Given the description of an element on the screen output the (x, y) to click on. 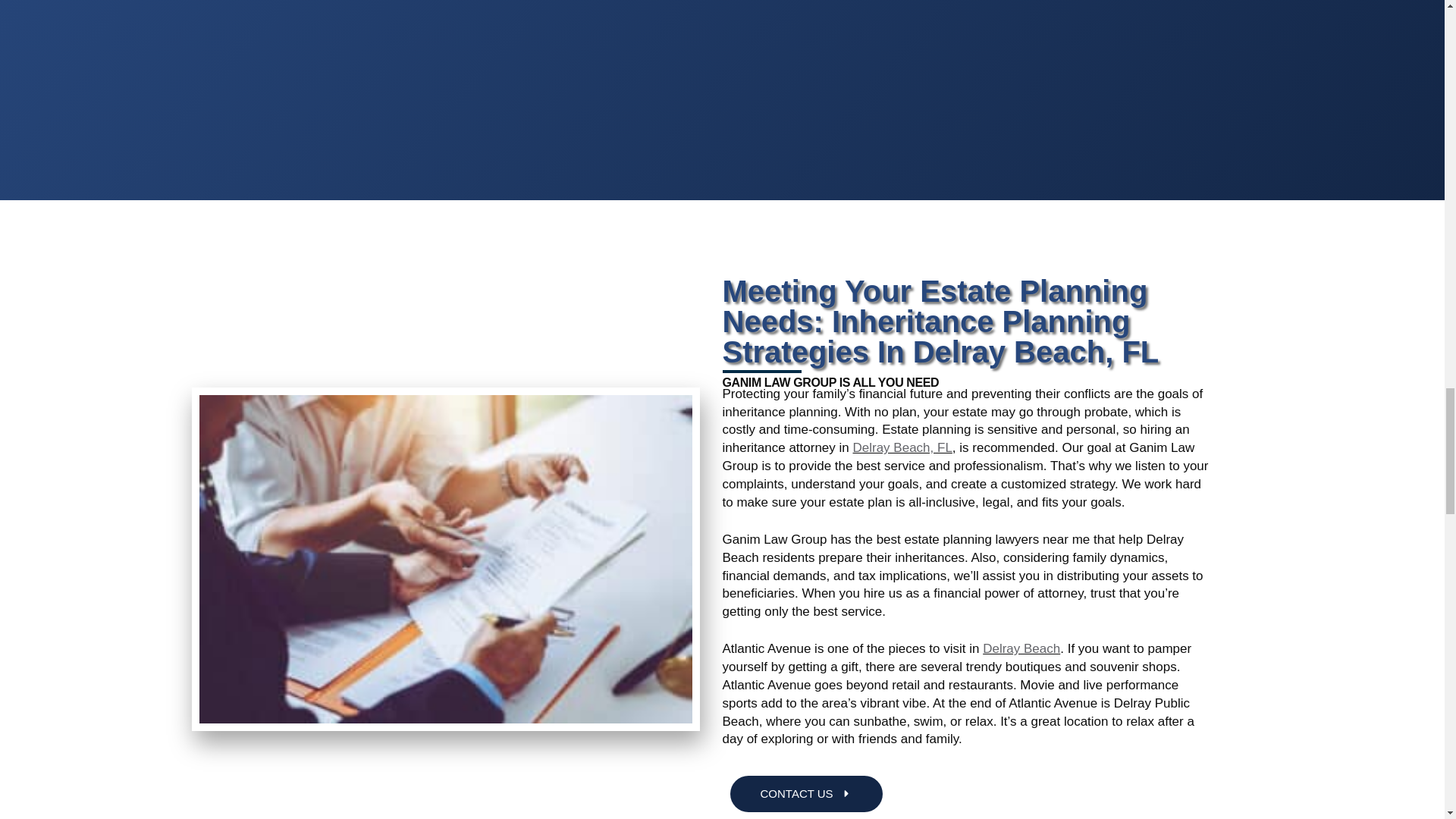
Delray Beach, FL (901, 447)
Delray Beach (1020, 648)
CONTACT US (805, 793)
